Given the description of an element on the screen output the (x, y) to click on. 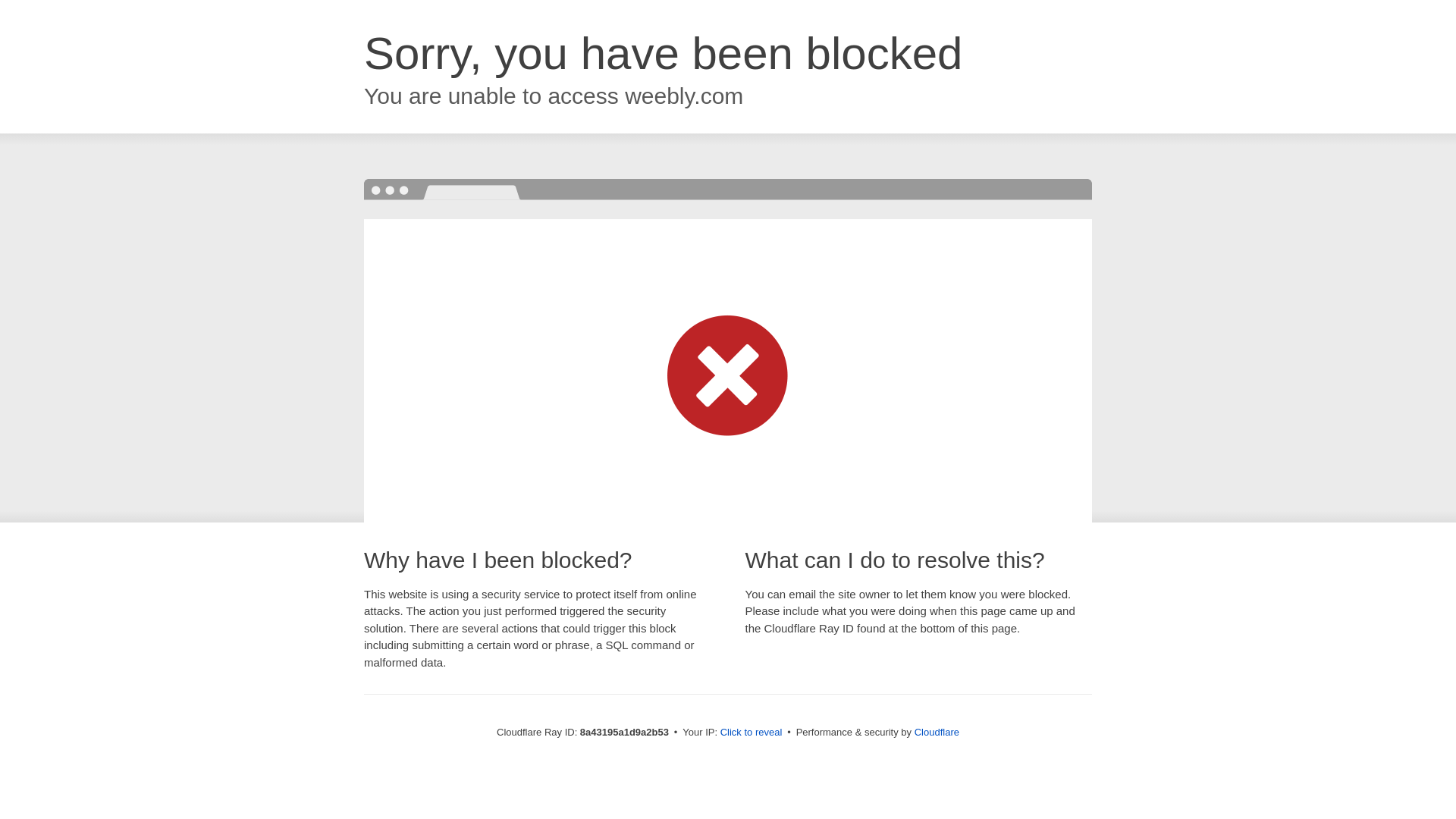
Cloudflare (936, 731)
Click to reveal (751, 732)
